Given the description of an element on the screen output the (x, y) to click on. 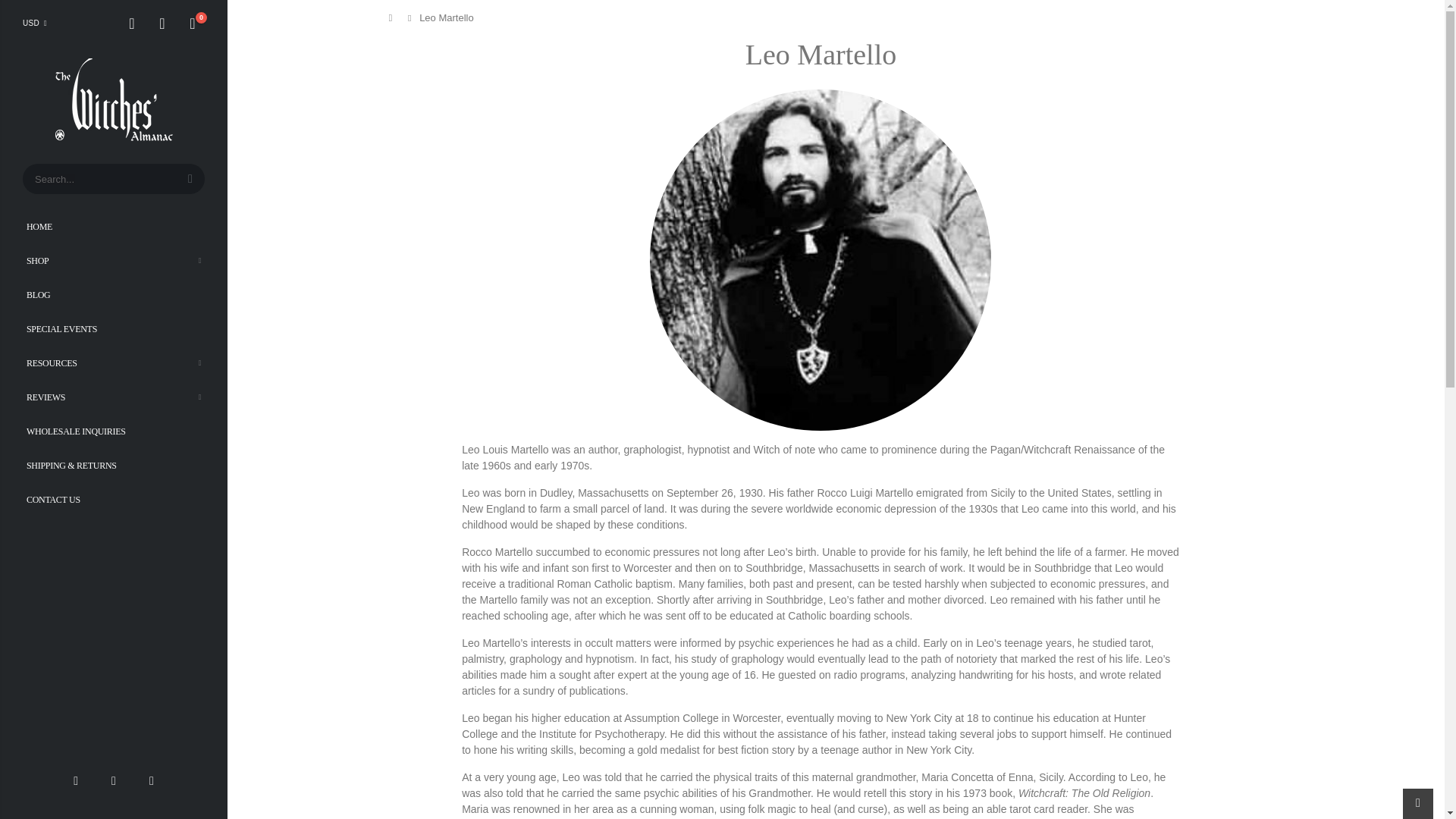
RESOURCES (114, 362)
BLOG (114, 294)
REVIEWS (114, 396)
HOME (114, 225)
SPECIAL EVENTS (114, 328)
0 (192, 23)
USD (37, 23)
Search (190, 178)
SHOP (114, 259)
